Given the description of an element on the screen output the (x, y) to click on. 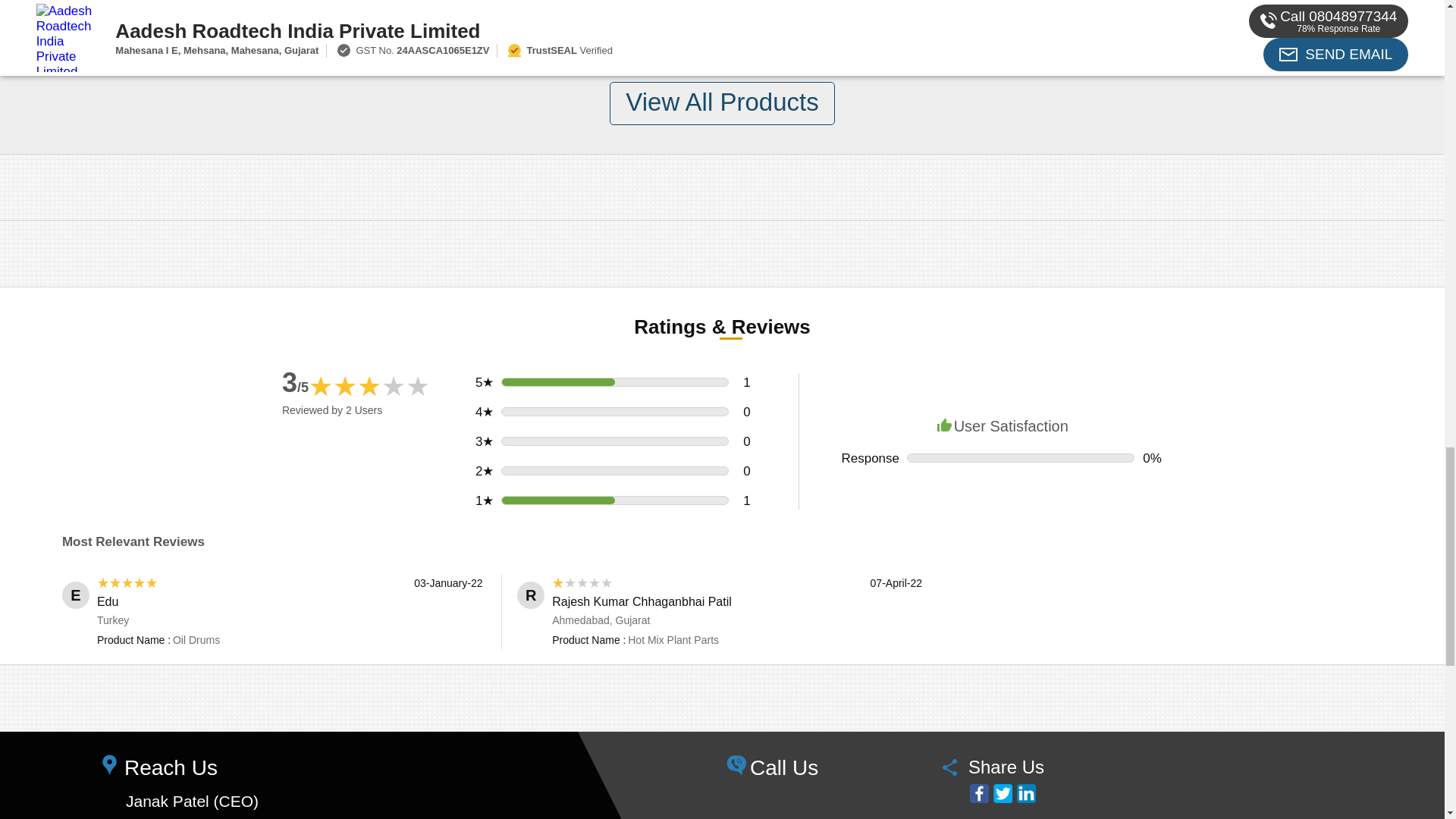
Facebook (978, 793)
LinkedIn (1025, 793)
Twitter (1001, 793)
View All Products (722, 103)
